Given the description of an element on the screen output the (x, y) to click on. 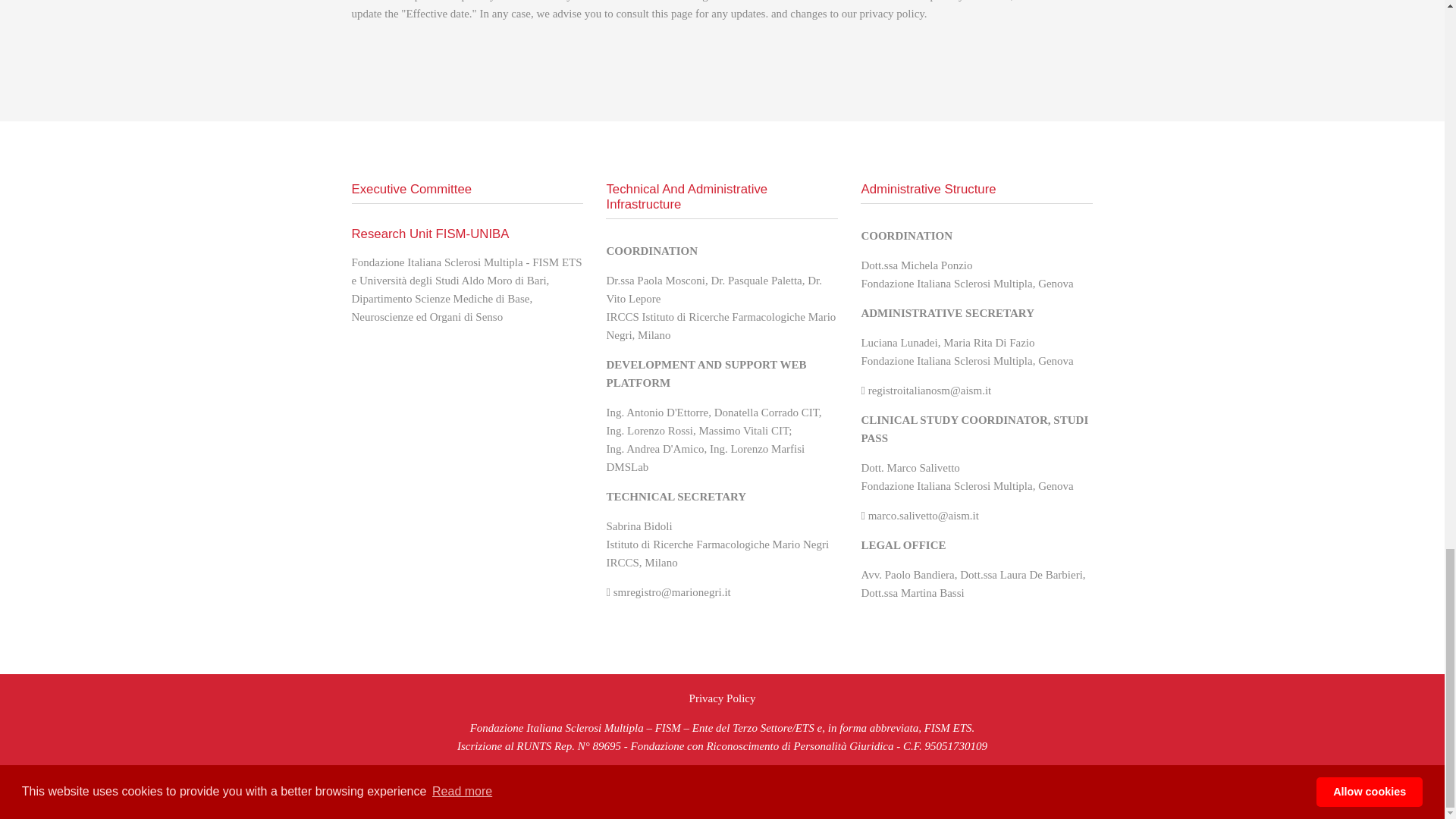
Italian Multiple Sclerosis Register (622, 794)
OS Templates (1061, 794)
Italian Multiple Sclerosis Register (936, 794)
Free Website Templates (1061, 794)
Privacy Policy (721, 698)
Research Unit FISM-UNIBA (430, 233)
